Given the description of an element on the screen output the (x, y) to click on. 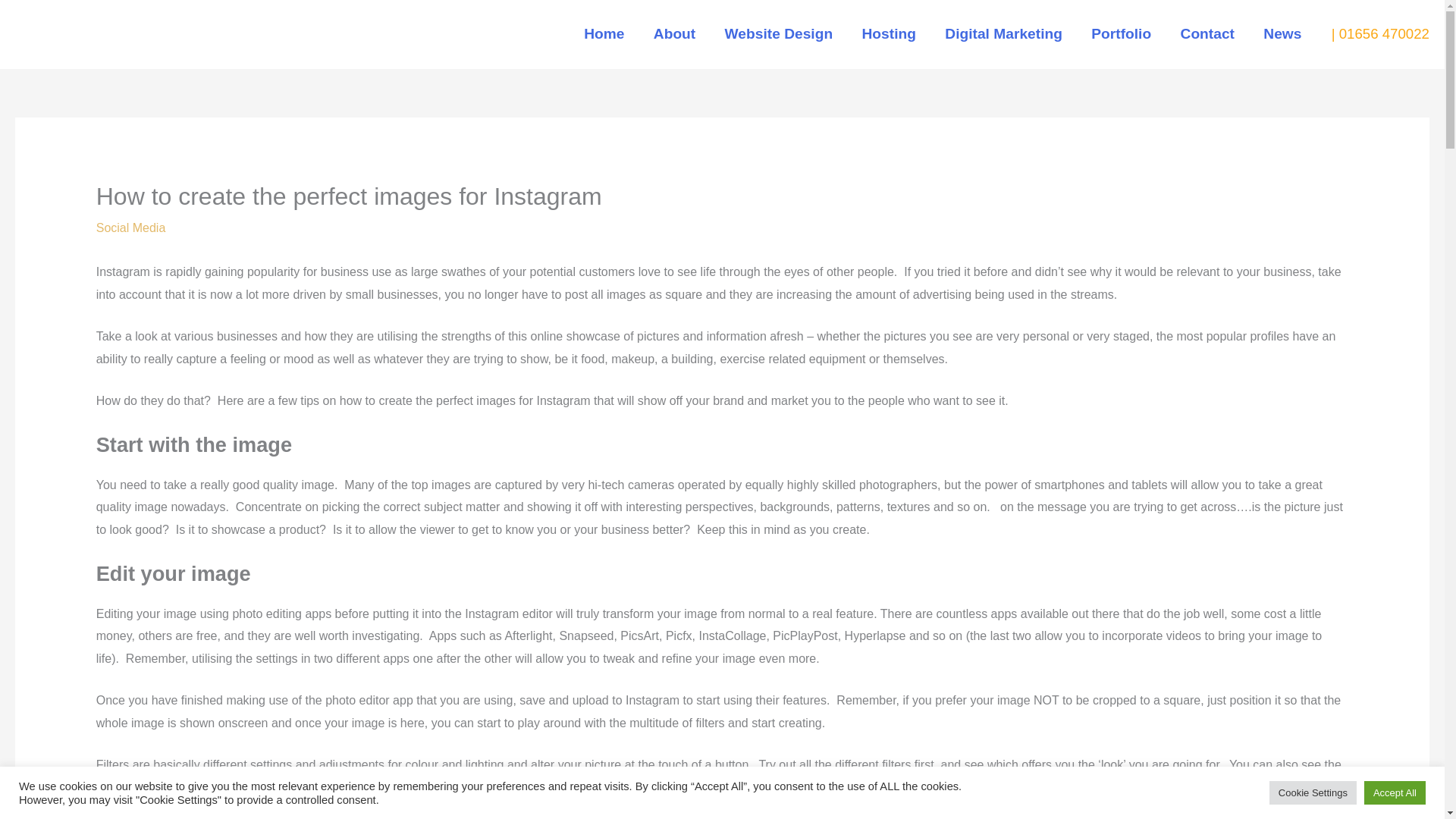
Digital Marketing (1003, 33)
Home (604, 33)
Portfolio (1121, 33)
Contact (1207, 33)
News (1282, 33)
Website Design (778, 33)
About (674, 33)
Hosting (888, 33)
